Given the description of an element on the screen output the (x, y) to click on. 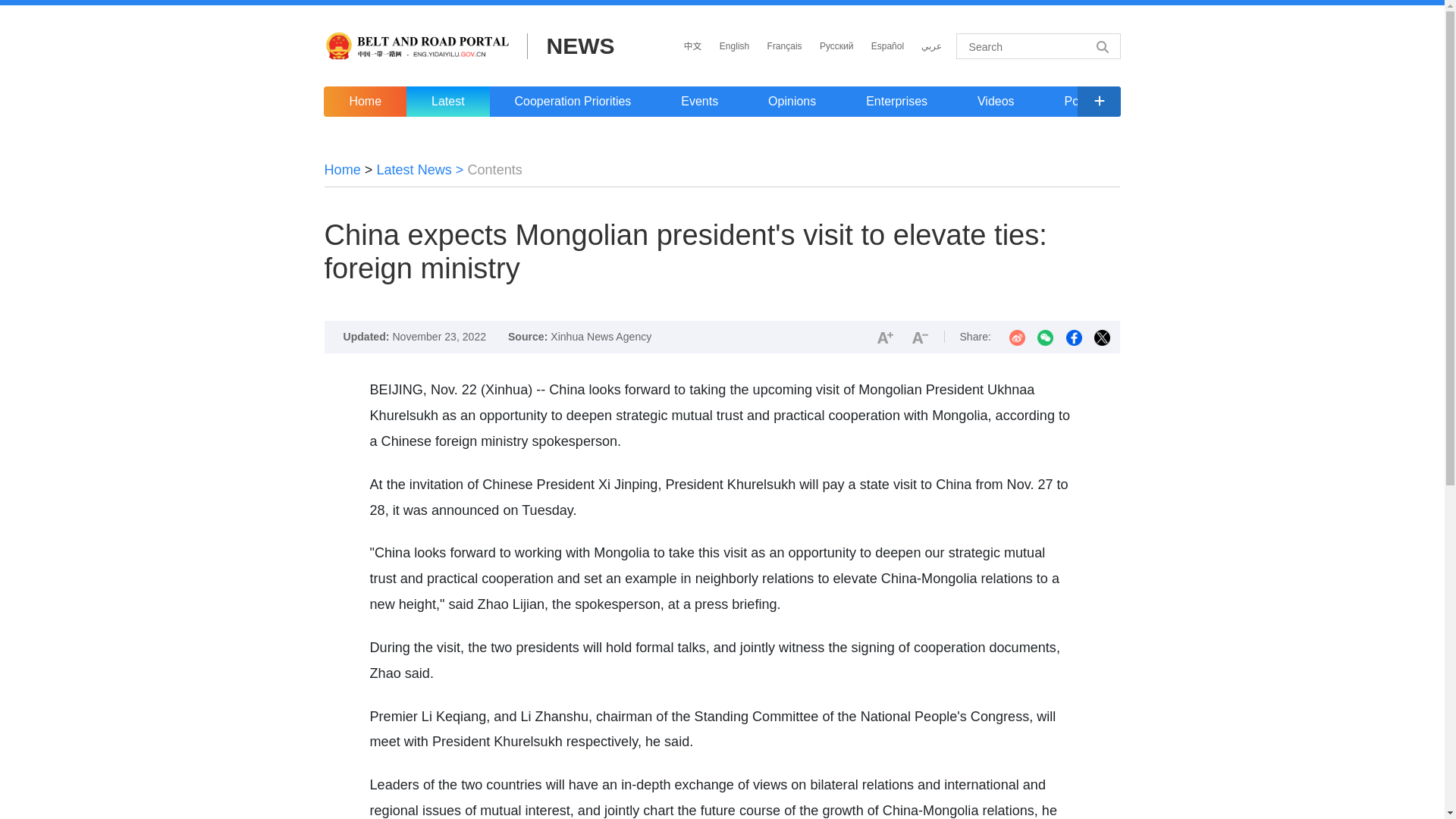
Policy Coordination (1116, 101)
Facilities Connectivity (1276, 101)
Events (699, 101)
Enterprises (896, 101)
Latest (447, 101)
Videos (995, 101)
Cooperation Priorities (572, 101)
English (734, 46)
Home (342, 169)
Opinions (791, 101)
